Given the description of an element on the screen output the (x, y) to click on. 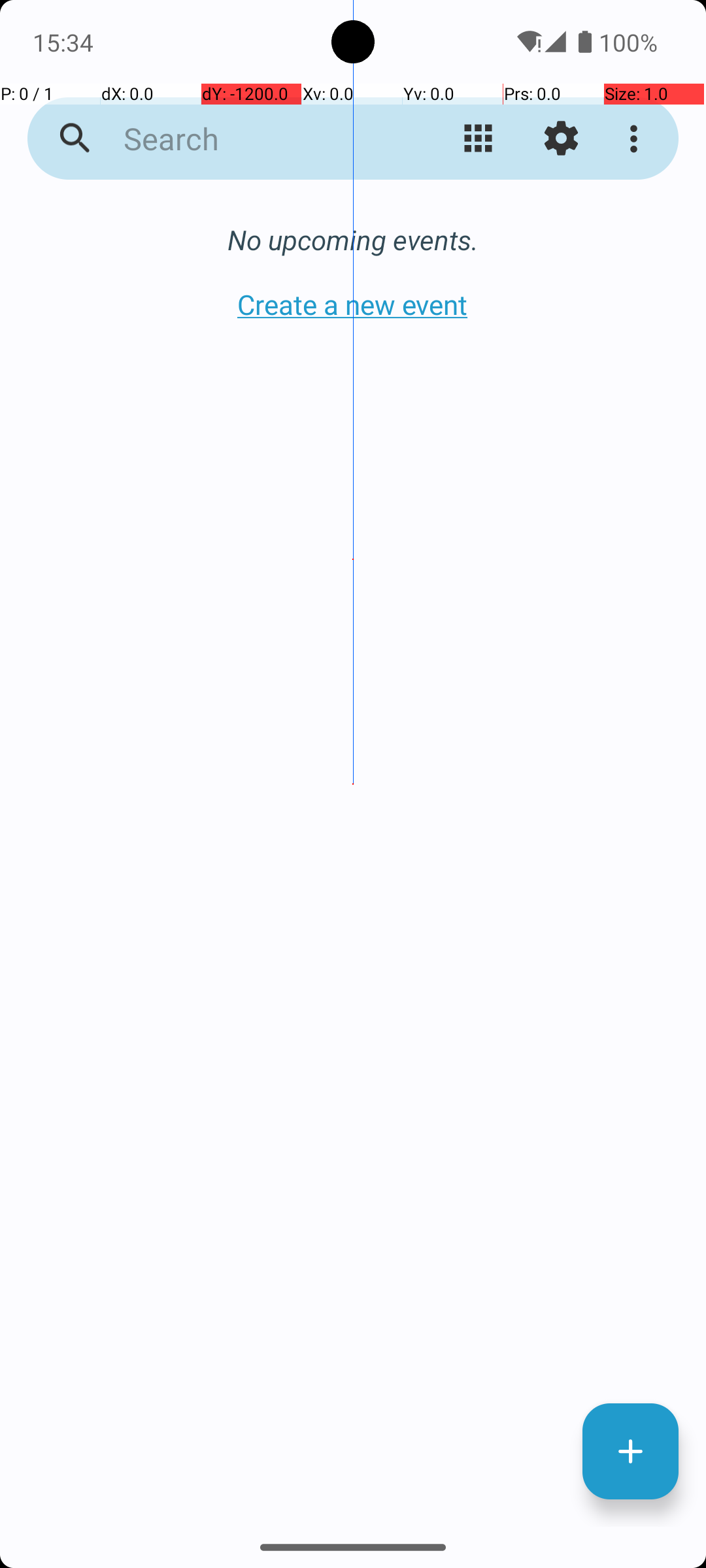
No upcoming events. Element type: android.widget.TextView (353, 239)
Create a new event Element type: android.widget.TextView (352, 304)
